Given the description of an element on the screen output the (x, y) to click on. 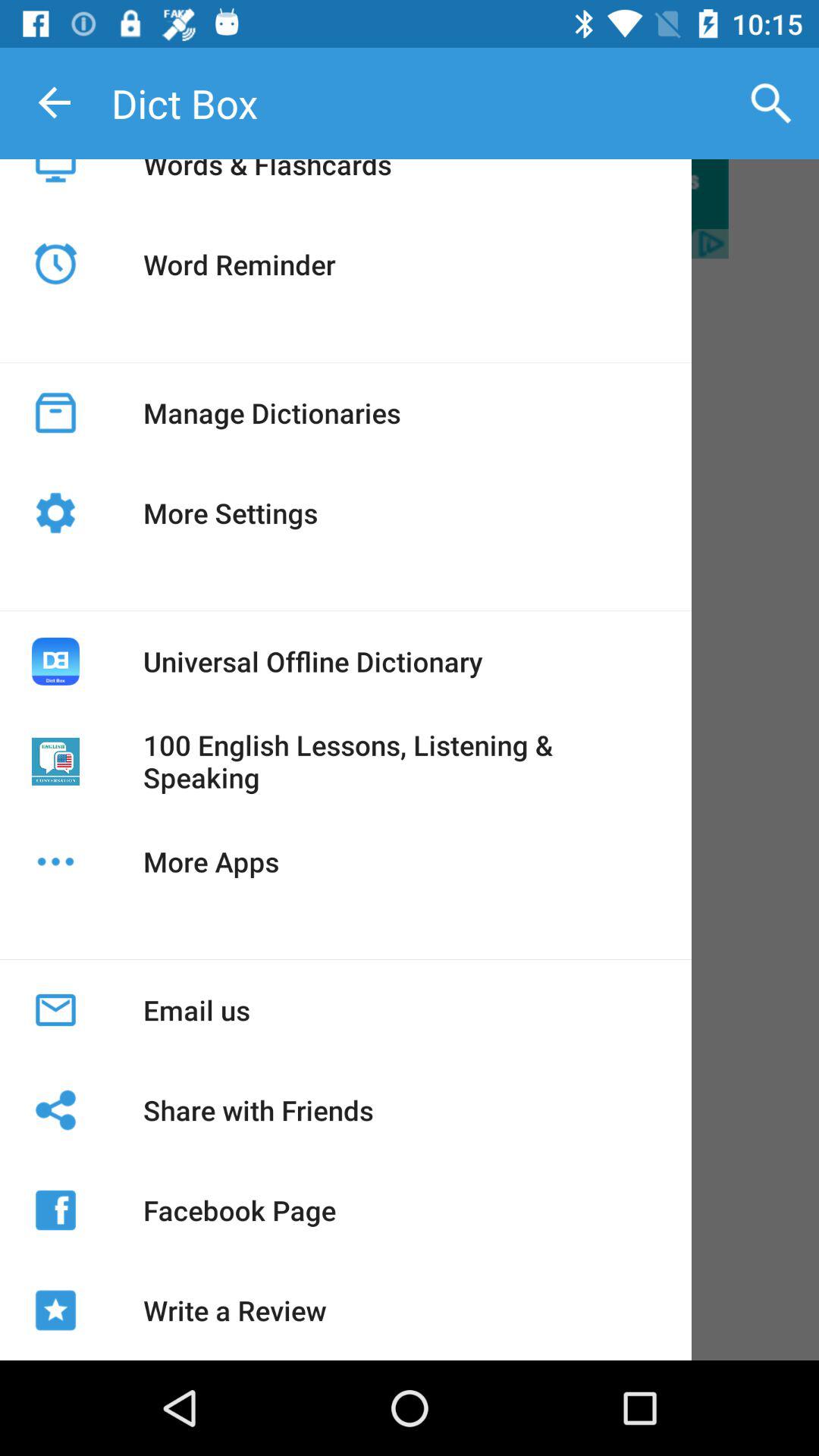
select the universal offline dictionary item (312, 661)
